Given the description of an element on the screen output the (x, y) to click on. 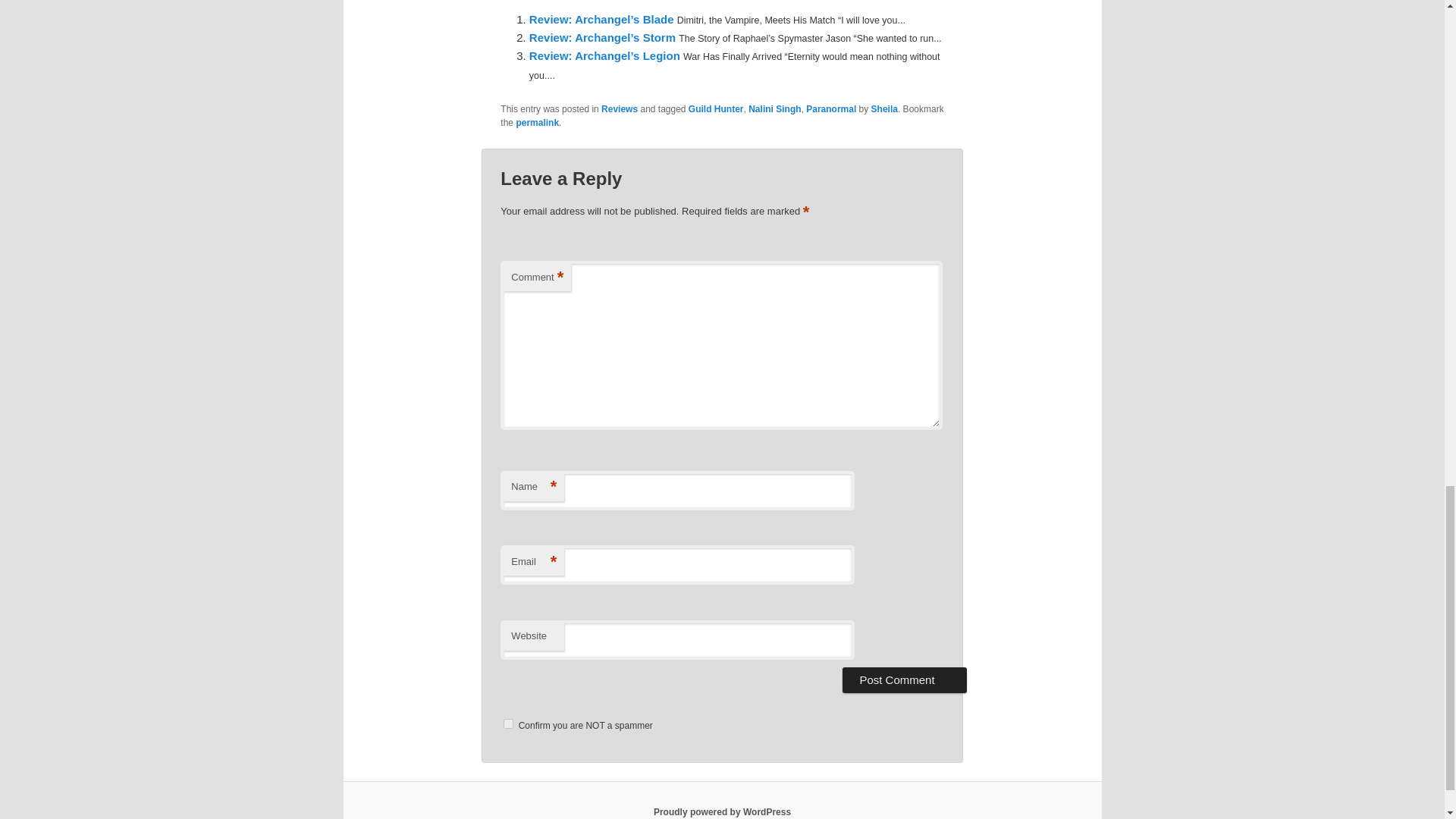
Paranormal (831, 109)
Reviews (619, 109)
on (508, 723)
Nalini Singh (774, 109)
Guild Hunter (716, 109)
Post Comment (904, 679)
Post Comment (904, 679)
Semantic Personal Publishing Platform (721, 811)
Sheila (884, 109)
Proudly powered by WordPress (721, 811)
permalink (537, 122)
